Given the description of an element on the screen output the (x, y) to click on. 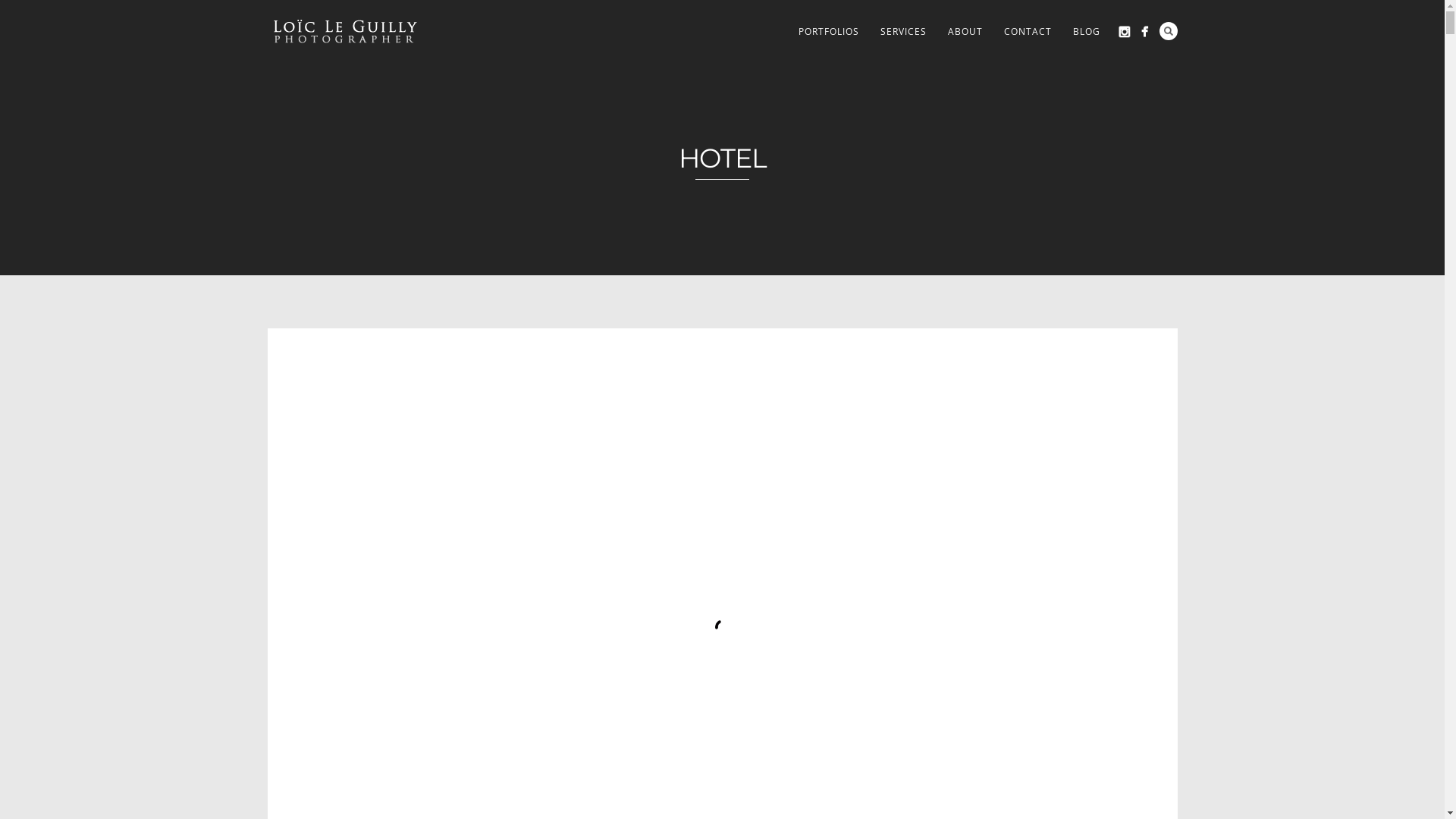
BLOG Element type: text (1085, 31)
Search Element type: text (1167, 30)
Connect on Facebook Element type: hover (1143, 30)
PORTFOLIOS Element type: text (828, 31)
SERVICES Element type: text (902, 31)
CONTACT Element type: text (1027, 31)
ABOUT Element type: text (965, 31)
Connect on Instagram Element type: hover (1123, 30)
